Given the description of an element on the screen output the (x, y) to click on. 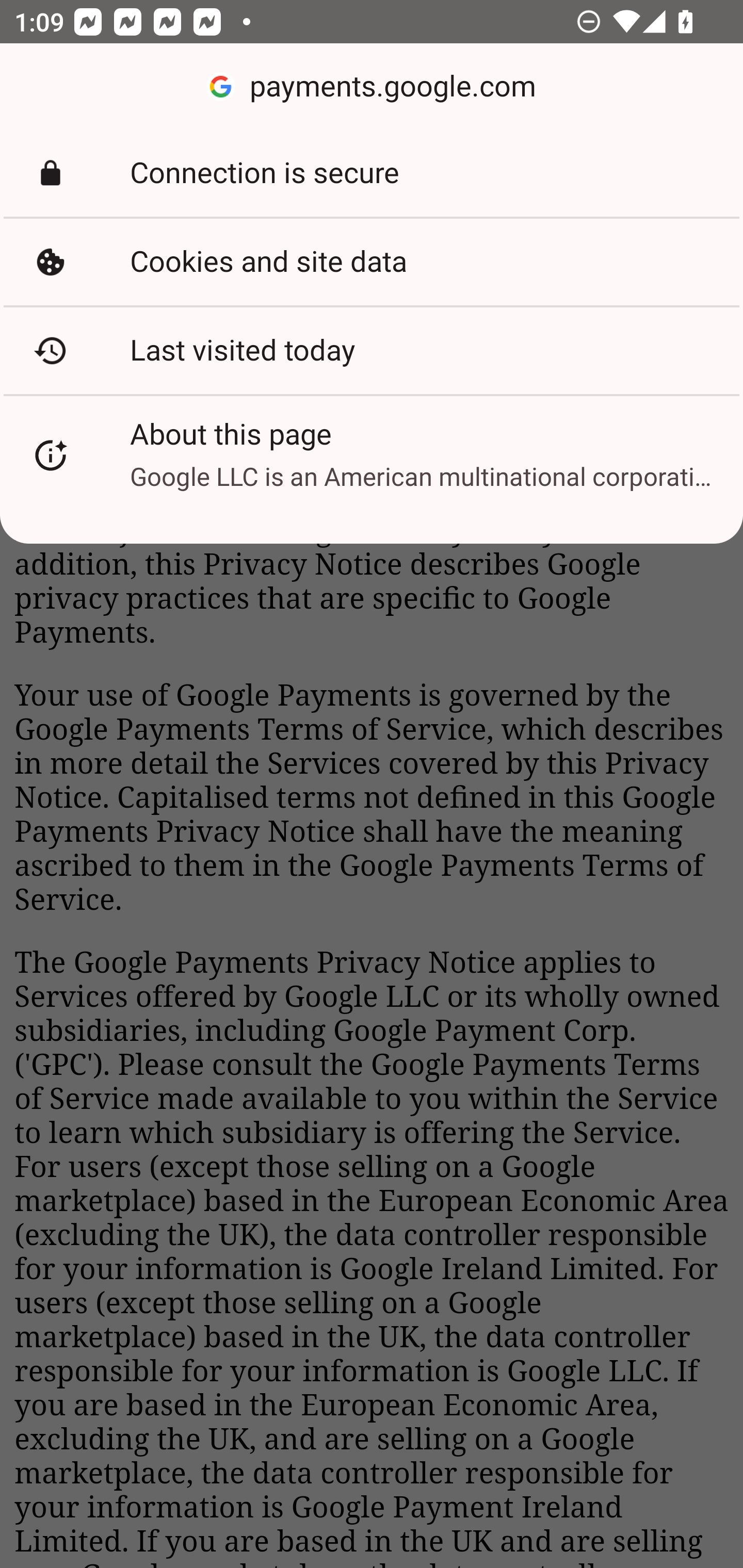
payments.google.com (371, 86)
Connection is secure (371, 173)
Cookies and site data (371, 261)
Last visited today (371, 350)
